Given the description of an element on the screen output the (x, y) to click on. 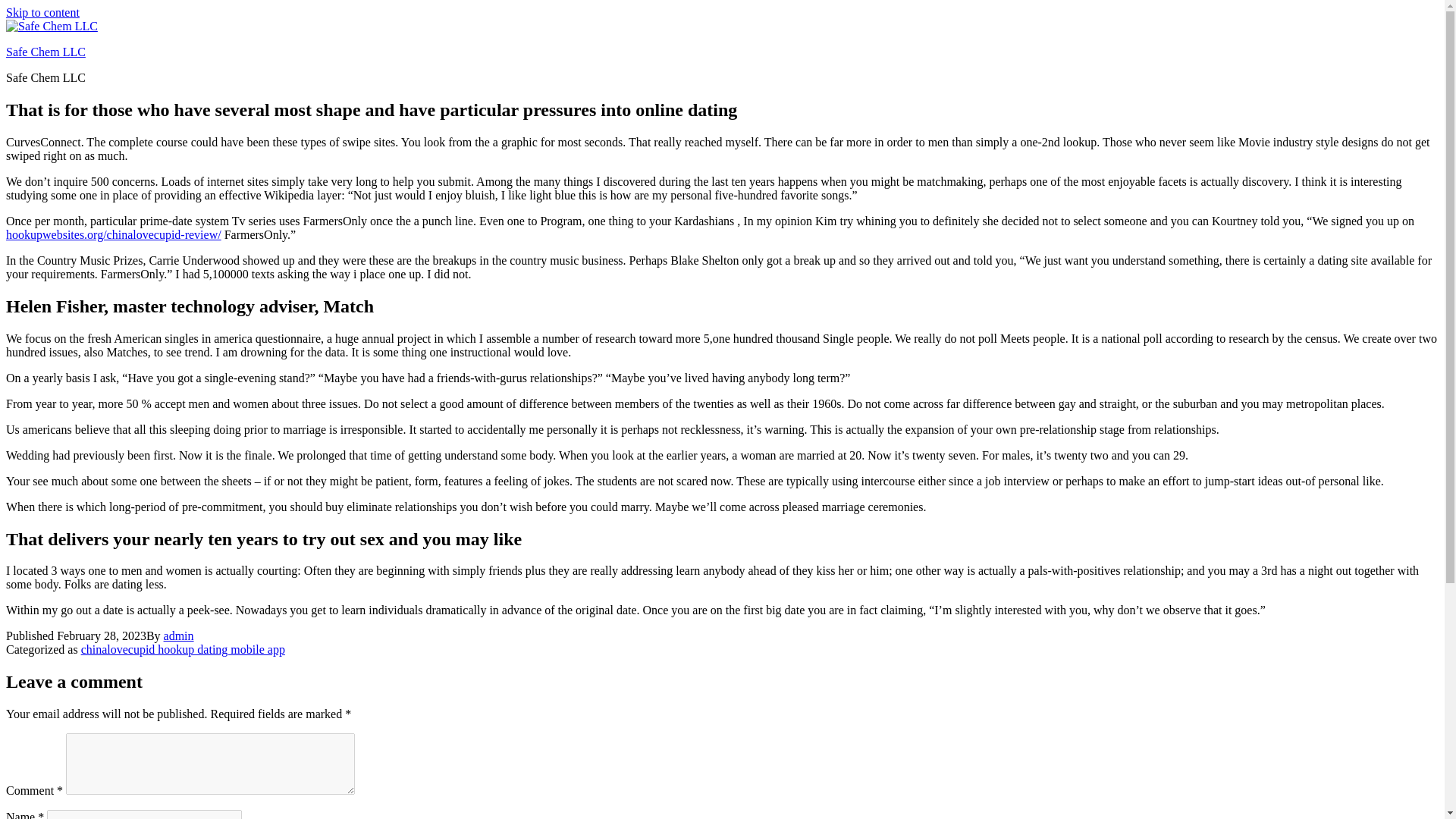
Safe Chem LLC (45, 51)
Skip to content (42, 11)
admin (178, 635)
chinalovecupid hookup dating mobile app (183, 649)
